Given the description of an element on the screen output the (x, y) to click on. 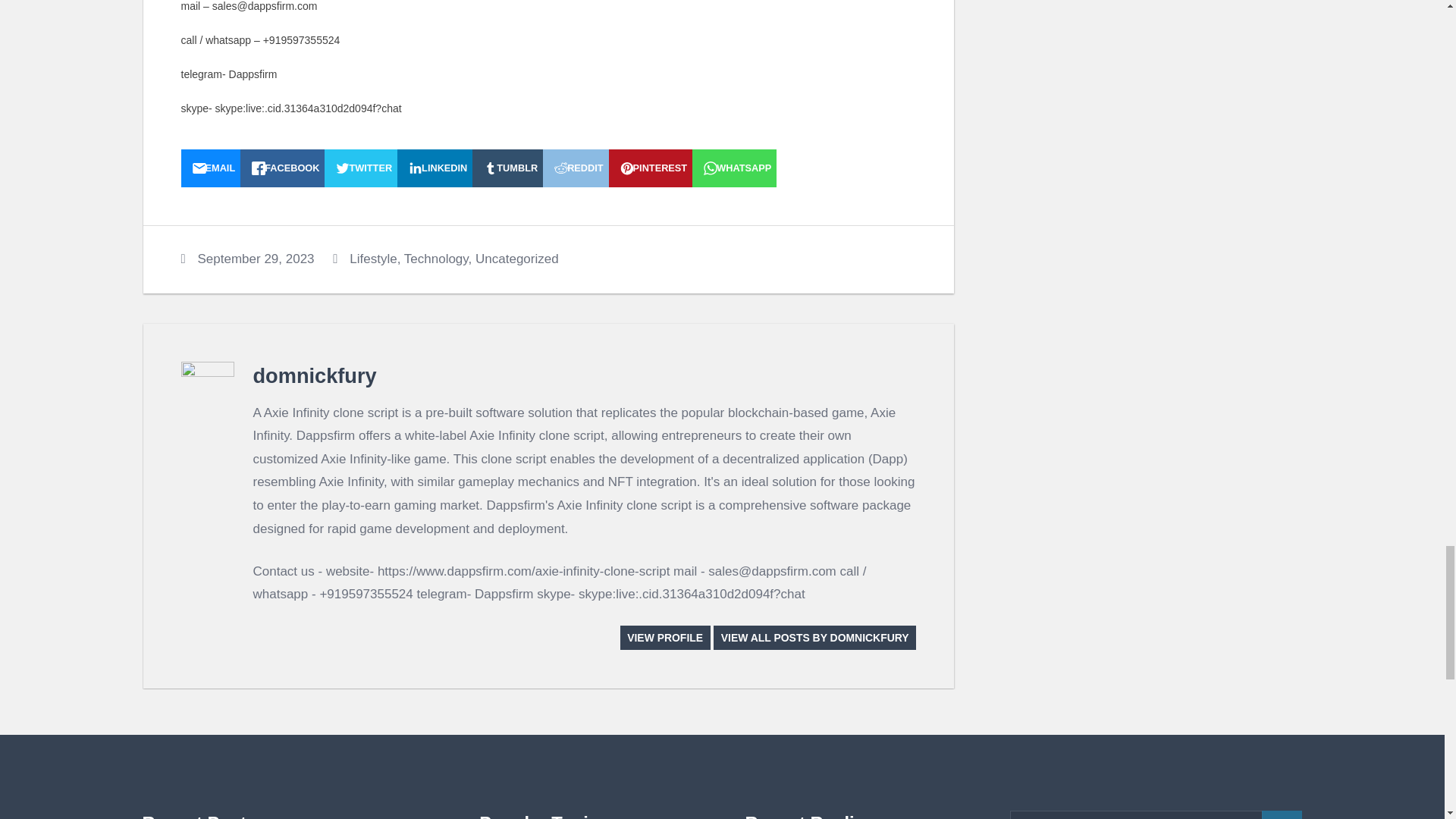
FACEBOOK (282, 168)
Uncategorized (517, 258)
TWITTER (360, 168)
Lifestyle (372, 258)
WHATSAPP (734, 168)
REDDIT (575, 168)
Technology (436, 258)
domnickfury (315, 375)
LINKEDIN (434, 168)
VIEW ALL POSTS BY DOMNICKFURY (814, 637)
VIEW PROFILE (665, 637)
EMAIL (210, 168)
PINTEREST (650, 168)
TUMBLR (507, 168)
